Given the description of an element on the screen output the (x, y) to click on. 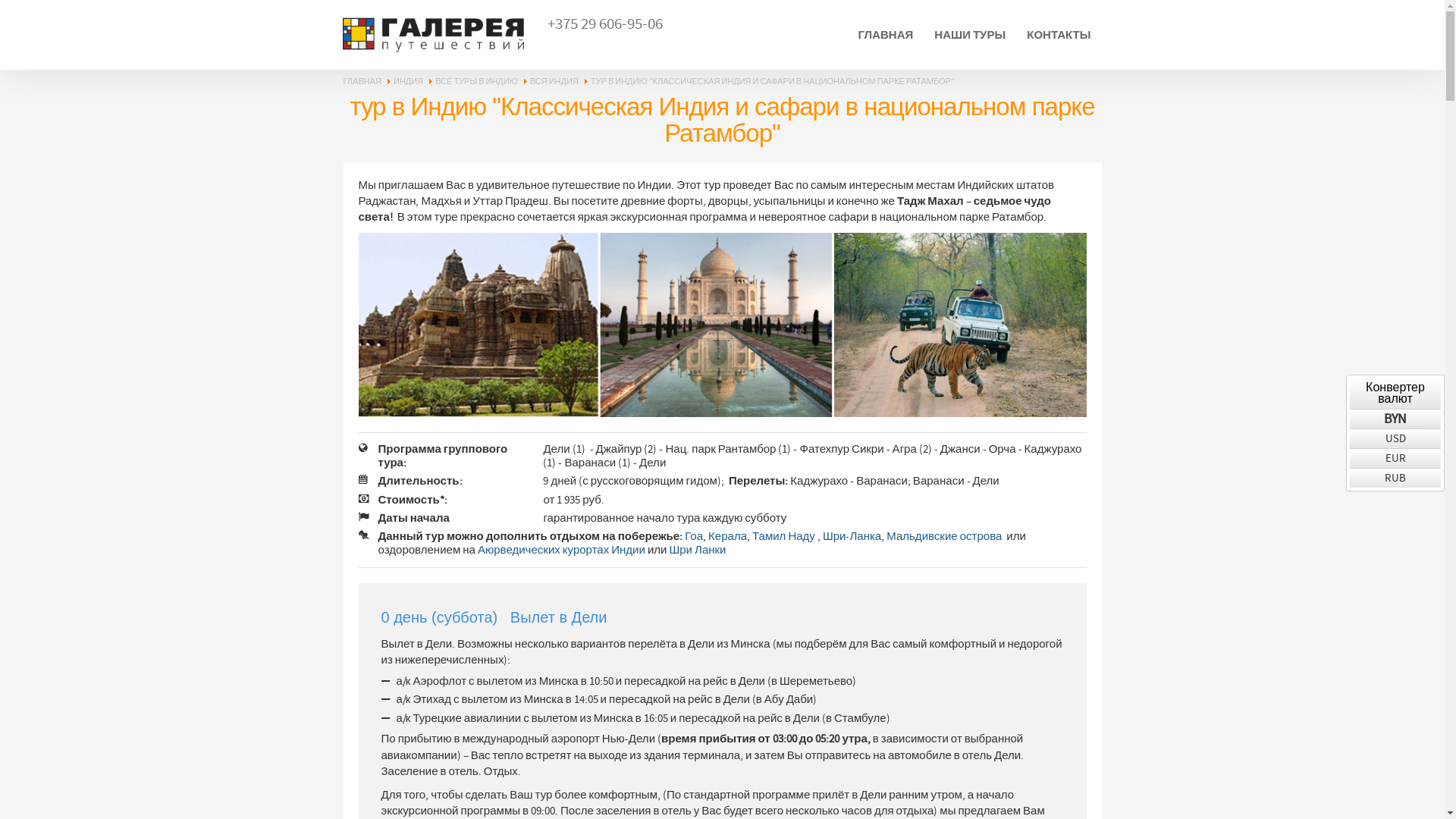
USD Element type: text (1394, 438)
EUR Element type: text (1394, 458)
+375 29 606-95-06 Element type: text (604, 24)
BYN Element type: text (1394, 418)
RUB Element type: text (1394, 477)
